Given the description of an element on the screen output the (x, y) to click on. 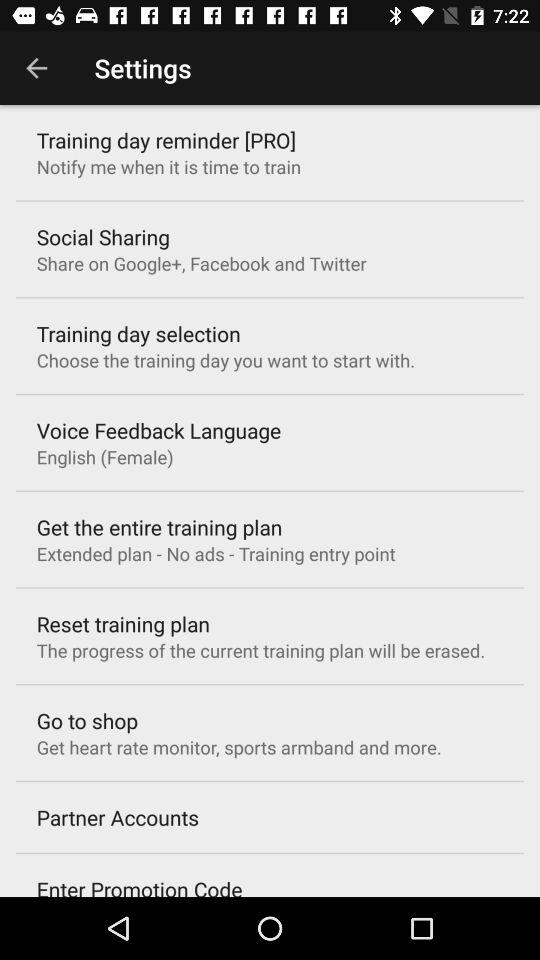
tap icon below go to shop icon (238, 747)
